Given the description of an element on the screen output the (x, y) to click on. 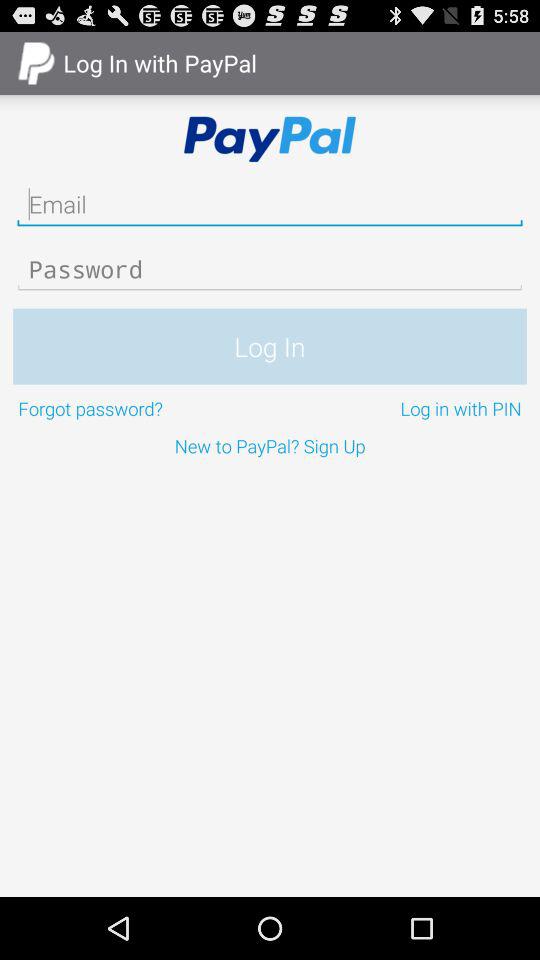
choose app below forgot password? item (269, 445)
